Given the description of an element on the screen output the (x, y) to click on. 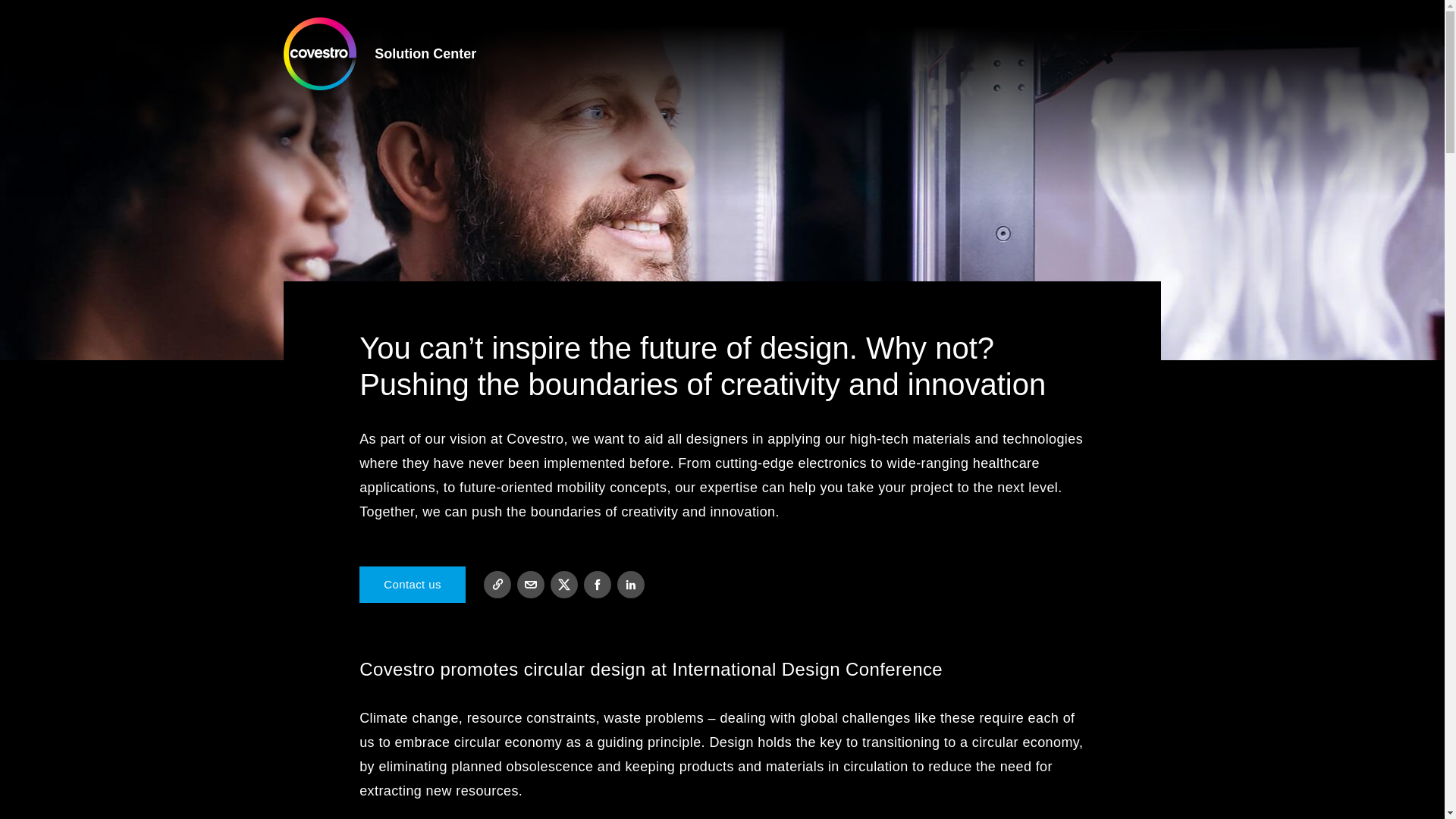
Solution Center (427, 53)
Contact us (412, 584)
